Given the description of an element on the screen output the (x, y) to click on. 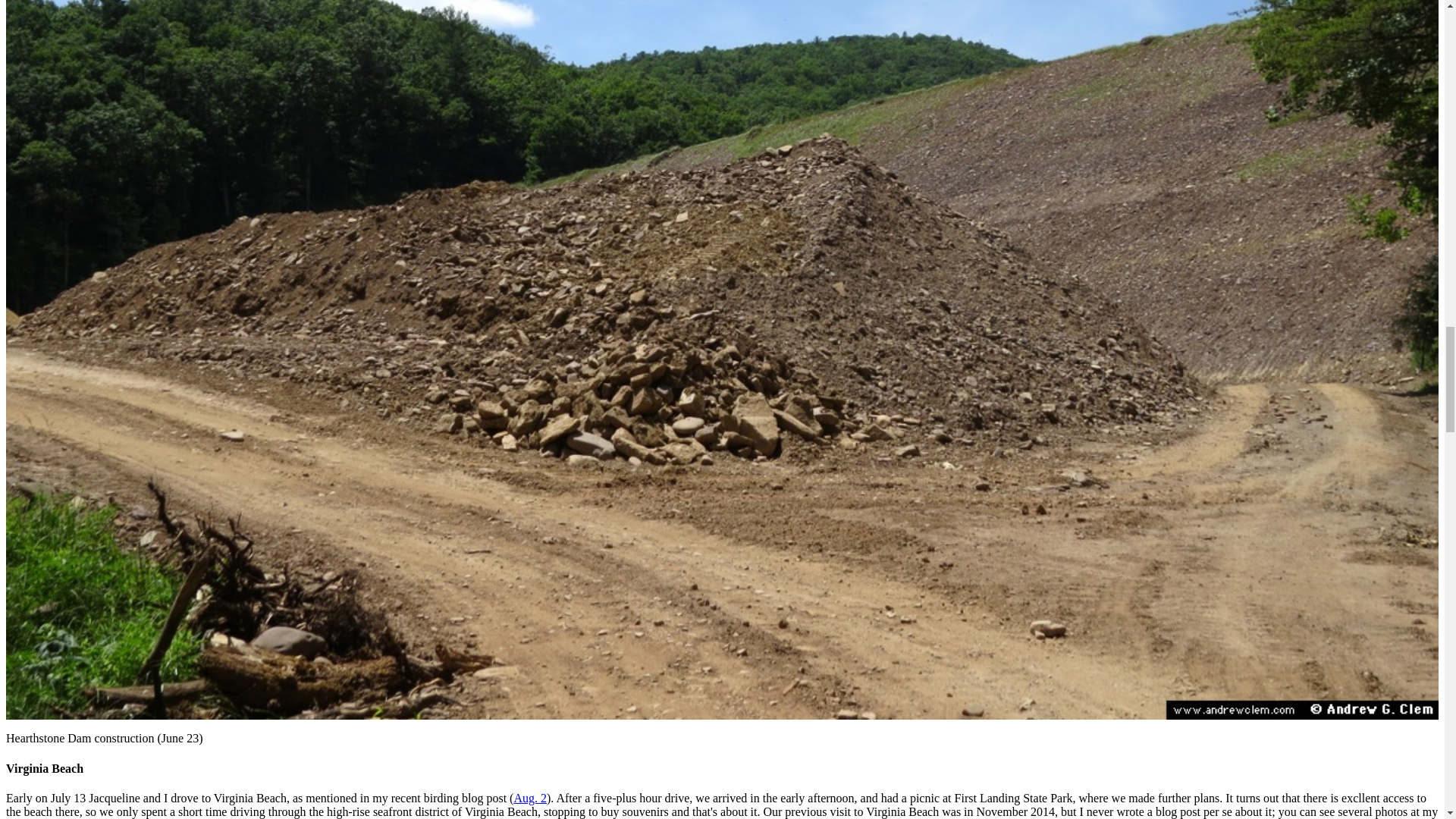
Aug. 2 (530, 797)
